Given the description of an element on the screen output the (x, y) to click on. 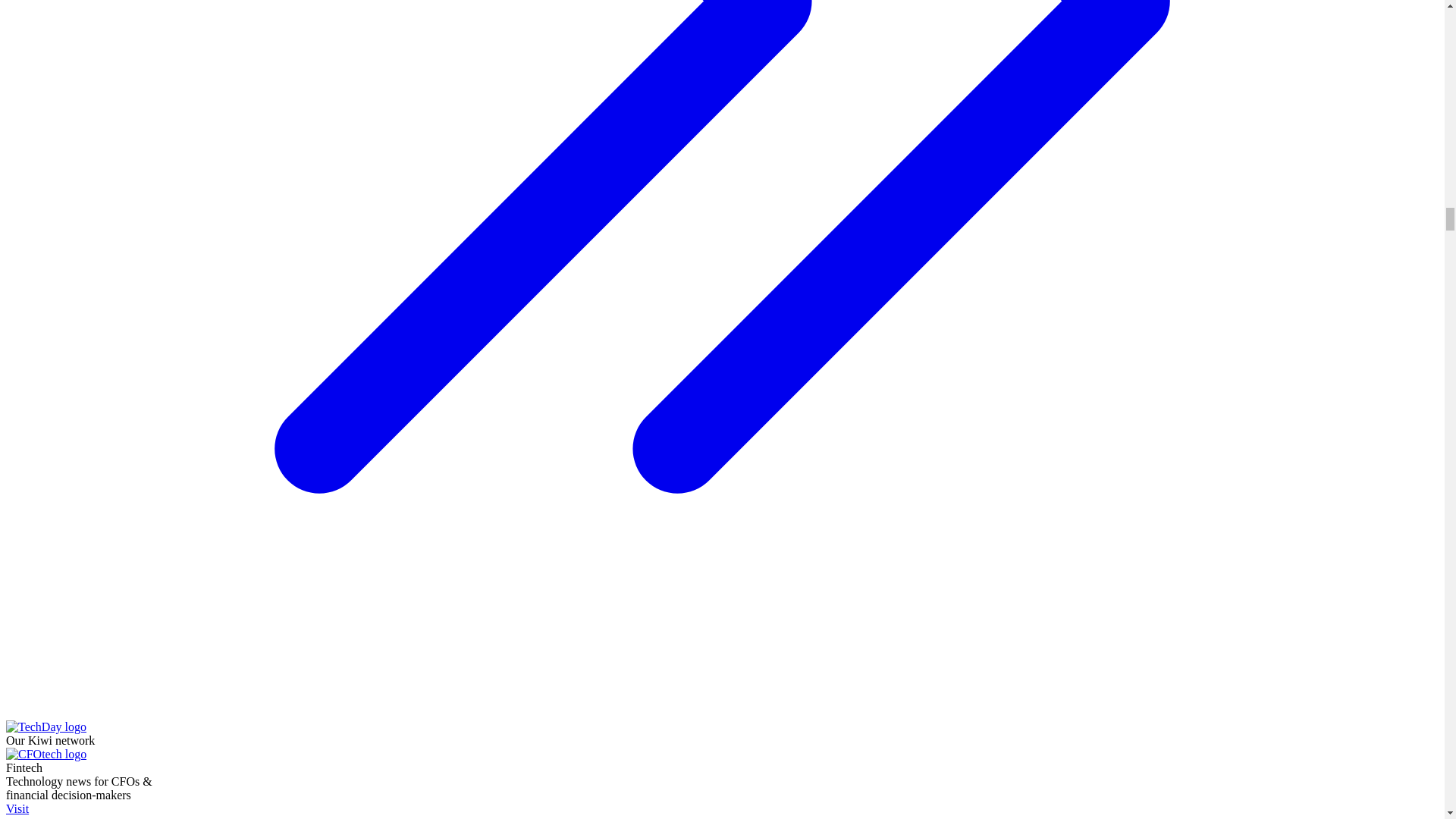
Visit (85, 810)
